Given the description of an element on the screen output the (x, y) to click on. 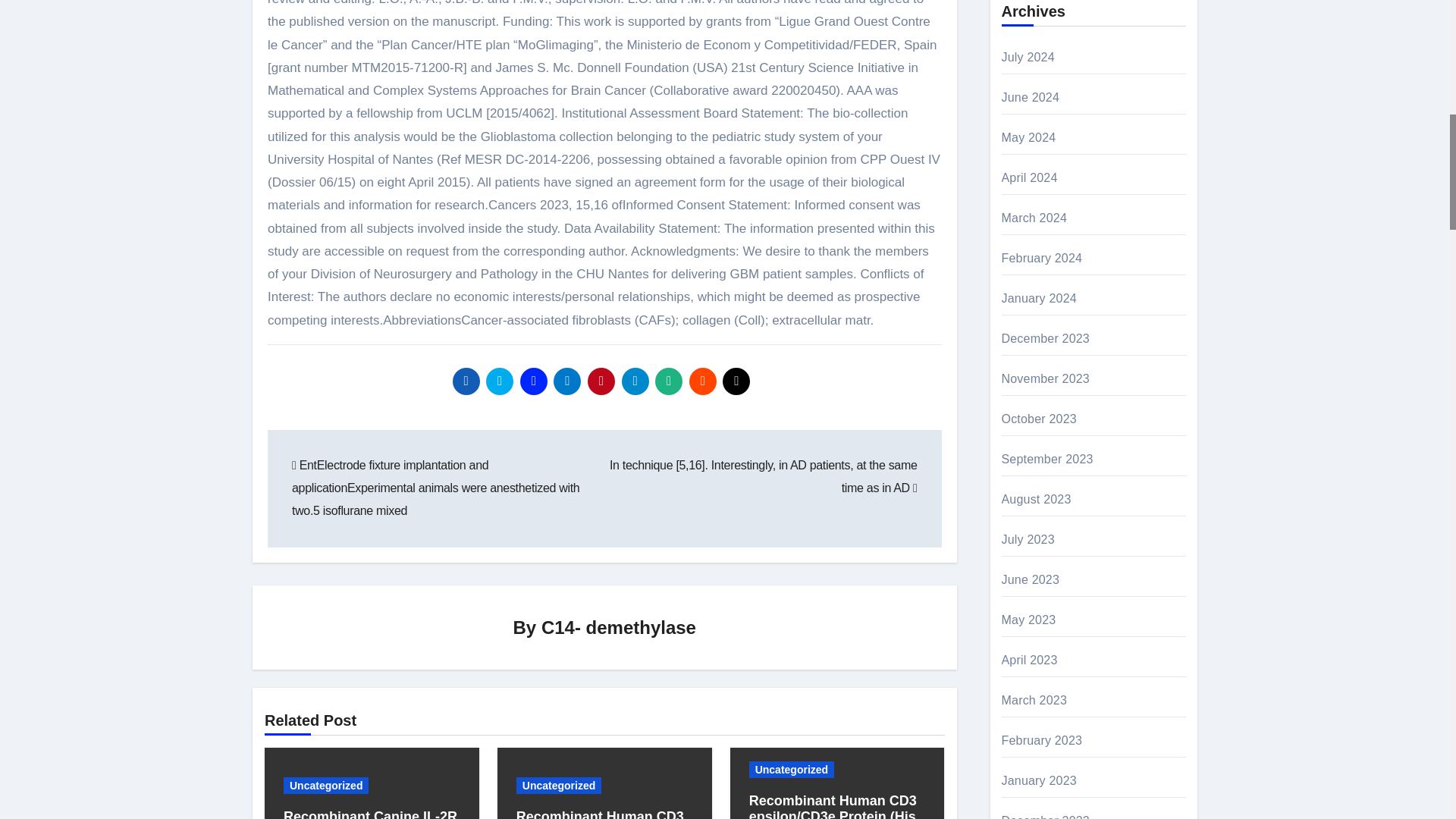
C14- demethylase (618, 627)
Uncategorized (325, 785)
